Given the description of an element on the screen output the (x, y) to click on. 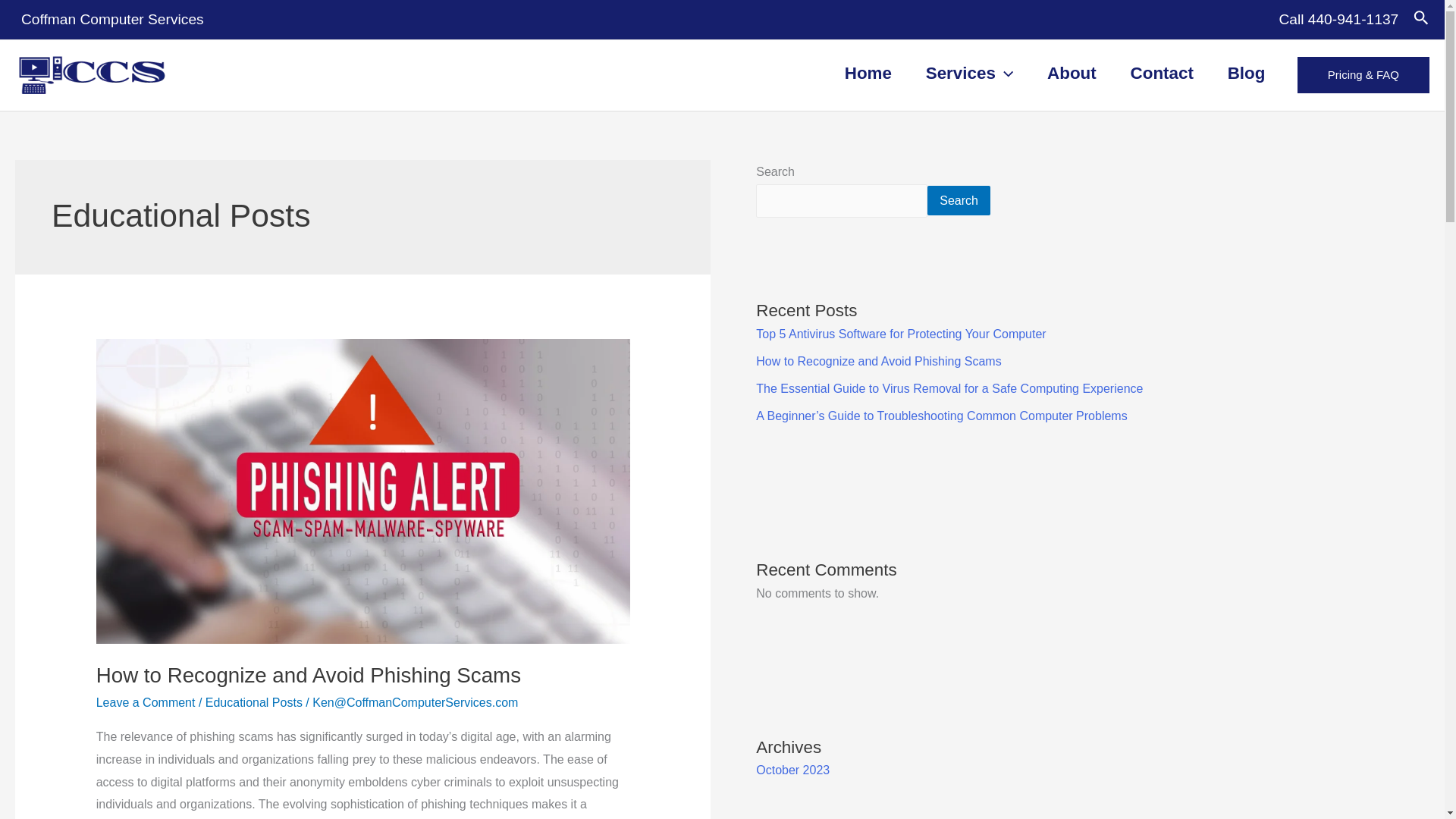
Blog (1245, 73)
Contact (1161, 73)
About (1071, 73)
Services (968, 73)
Home (867, 73)
